Given the description of an element on the screen output the (x, y) to click on. 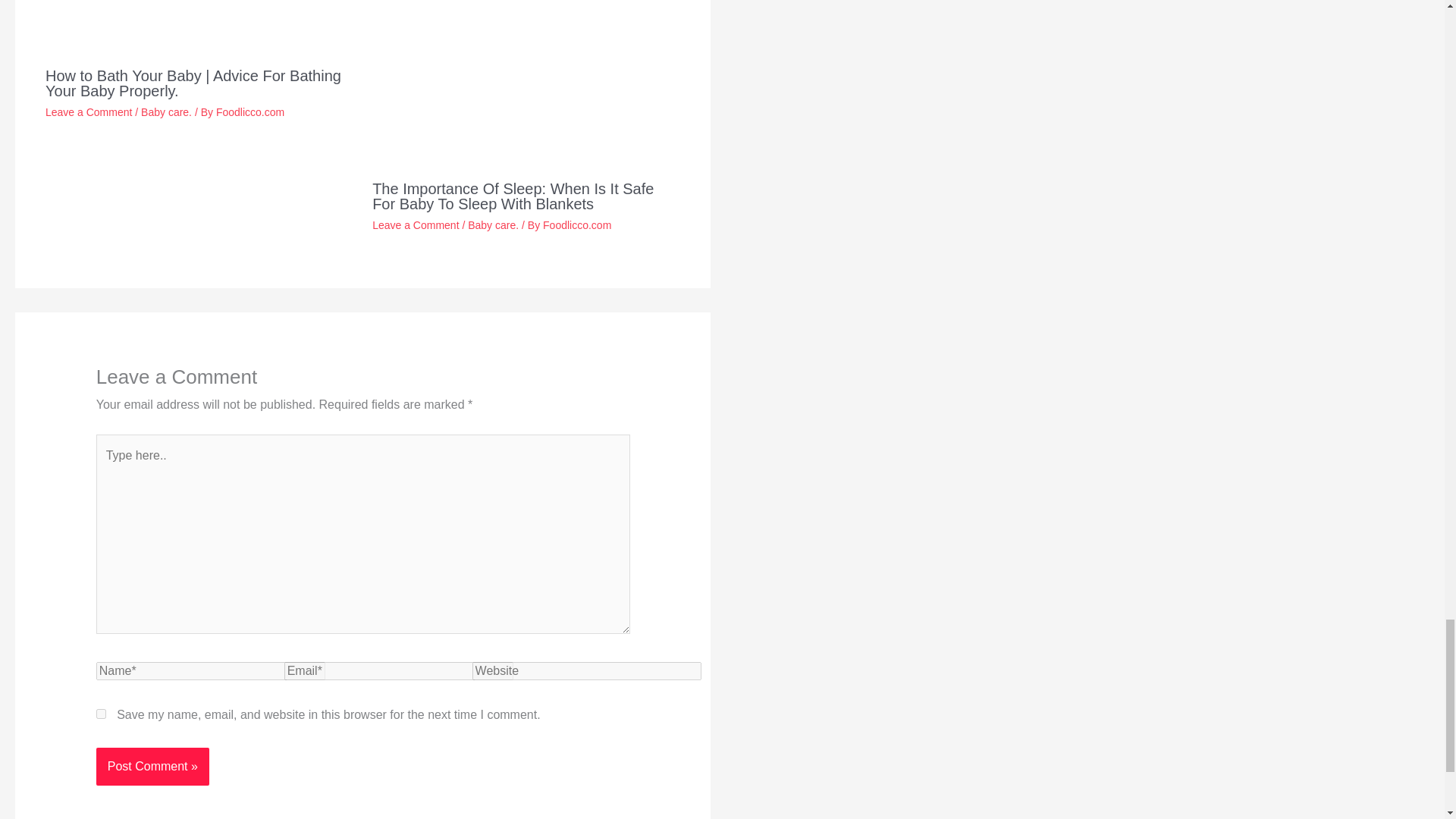
Leave a Comment (88, 111)
Leave a Comment (415, 224)
View all posts by Foodlicco.com (577, 224)
Foodlicco.com (249, 111)
Foodlicco.com (577, 224)
View all posts by Foodlicco.com (249, 111)
Baby care. (166, 111)
yes (101, 714)
Baby care. (492, 224)
